Given the description of an element on the screen output the (x, y) to click on. 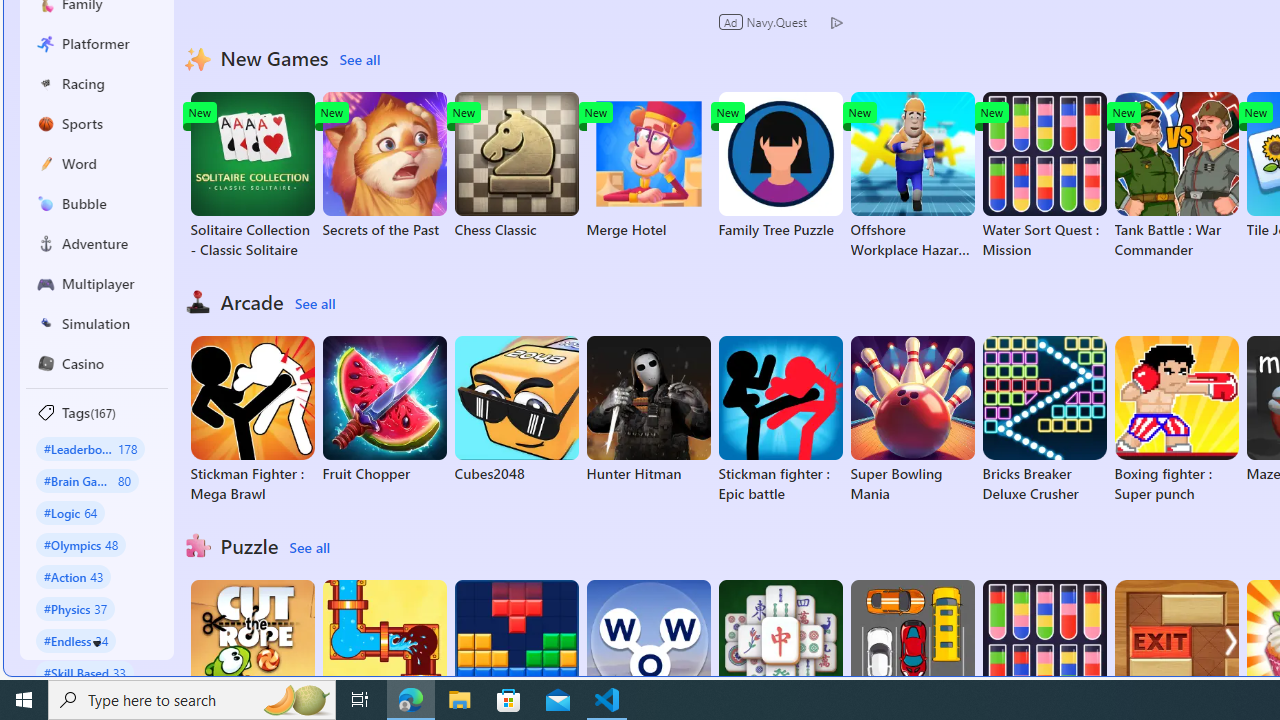
Stickman fighter : Epic battle (780, 419)
#Skill Based 33 (84, 672)
Offshore Workplace Hazard Game (912, 175)
Merge Hotel (648, 165)
Hunter Hitman (648, 409)
Chess Classic (516, 165)
Cubes2048 (516, 409)
Fruit Chopper (384, 409)
Boxing fighter : Super punch (1176, 419)
Family Tree Puzzle (780, 165)
Stickman Fighter : Mega Brawl (251, 419)
Secrets of the Past (384, 165)
Super Bowling Mania (912, 419)
Class: arrow-bottom button-default-style-remove (97, 643)
